Given the description of an element on the screen output the (x, y) to click on. 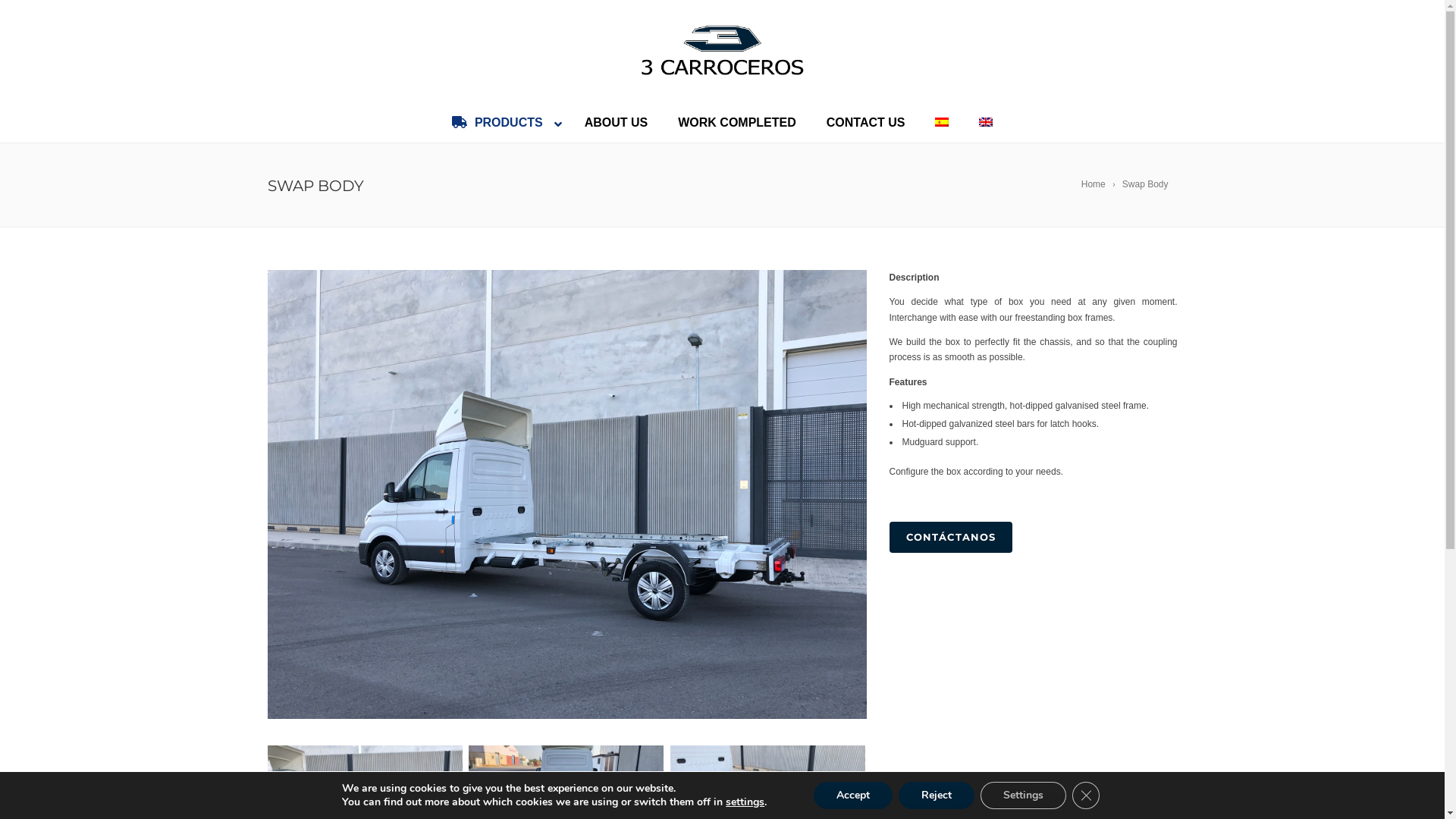
Reject Element type: text (936, 795)
TIENDA ONLINE Element type: hover (1165, 793)
Aviso legal Element type: text (438, 792)
Principal Element type: hover (566, 494)
Swap Body Element type: text (1147, 183)
WORK COMPLETED Element type: text (736, 122)
CLOSE GDPR COOKIE BANNER Element type: text (1085, 795)
PRODUCTS Element type: text (502, 122)
Settings Element type: text (1023, 795)
TWITTER Element type: hover (1142, 793)
FACEBOOK Element type: hover (1119, 793)
Accept Element type: text (852, 795)
info@3carroceros.com Element type: text (658, 662)
Home Element type: text (1099, 183)
ABOUT US Element type: text (616, 122)
CONTACT US Element type: text (865, 122)
English Element type: hover (985, 121)
